Given the description of an element on the screen output the (x, y) to click on. 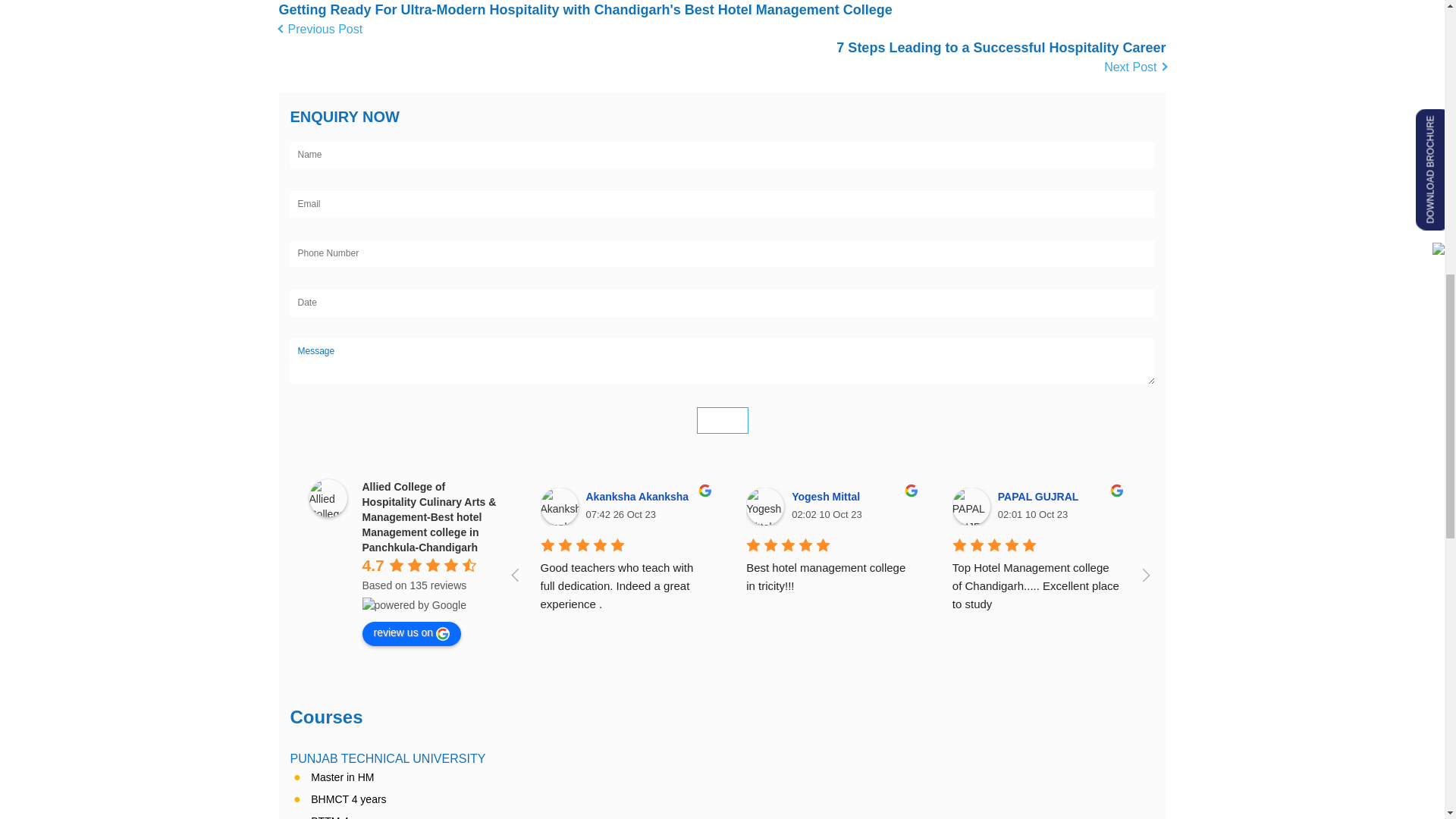
Amit Sharma (1176, 506)
Yogesh Mittal (764, 506)
powered by Google (413, 604)
Akanksha Akanksha (559, 506)
7 Steps Leading to a Successful Hospitality Career (1000, 57)
PAPAL GUJRAL (971, 506)
Submit (721, 420)
